Given the description of an element on the screen output the (x, y) to click on. 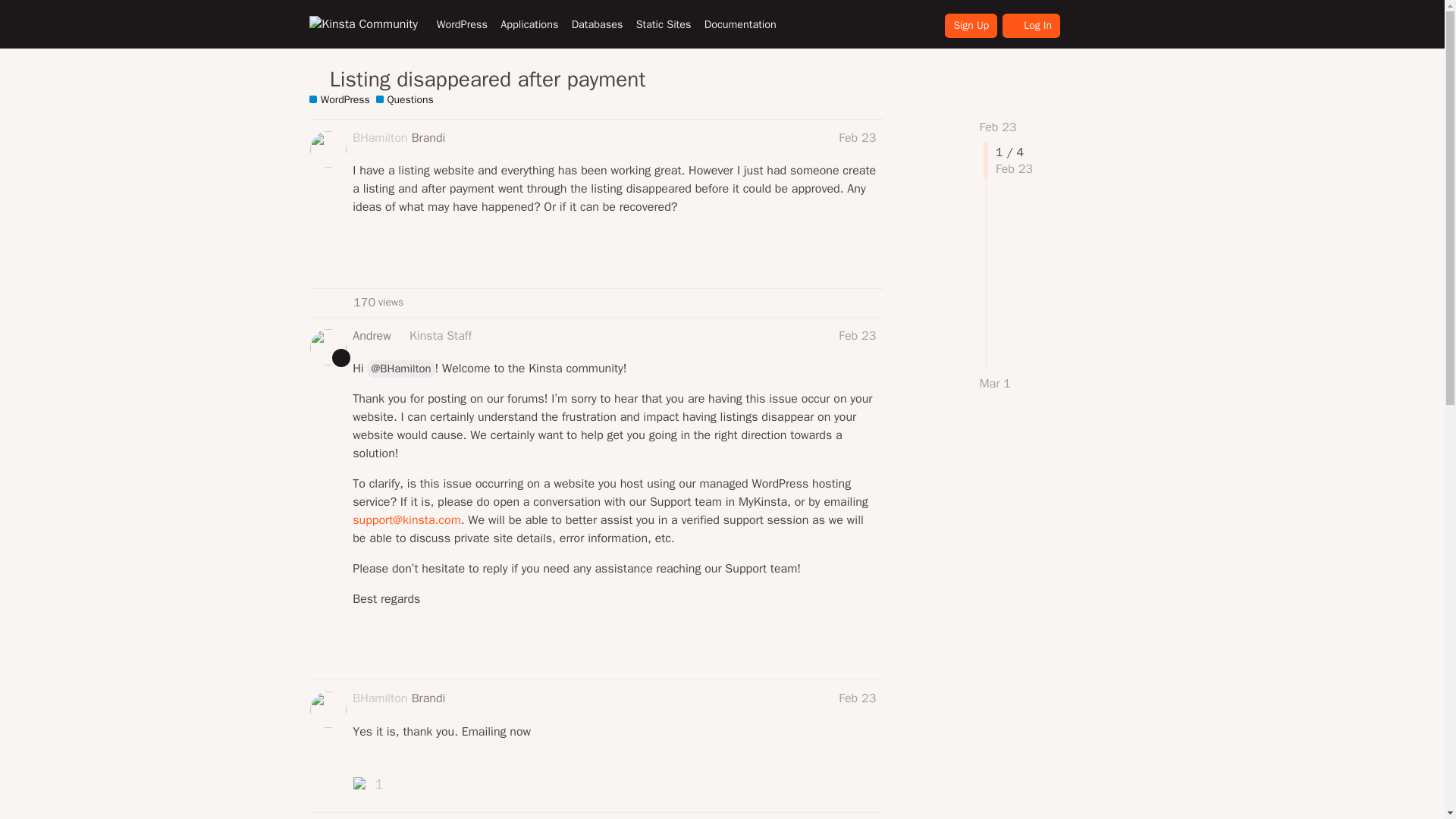
Please sign up or log in to like this post (835, 258)
menu (1117, 23)
Post date (857, 137)
Static Sites (662, 24)
Applications (529, 24)
BHamilton (379, 137)
BHamilton (379, 698)
Feb 23 (997, 127)
Documentation (740, 24)
share a link to this post (869, 258)
